Given the description of an element on the screen output the (x, y) to click on. 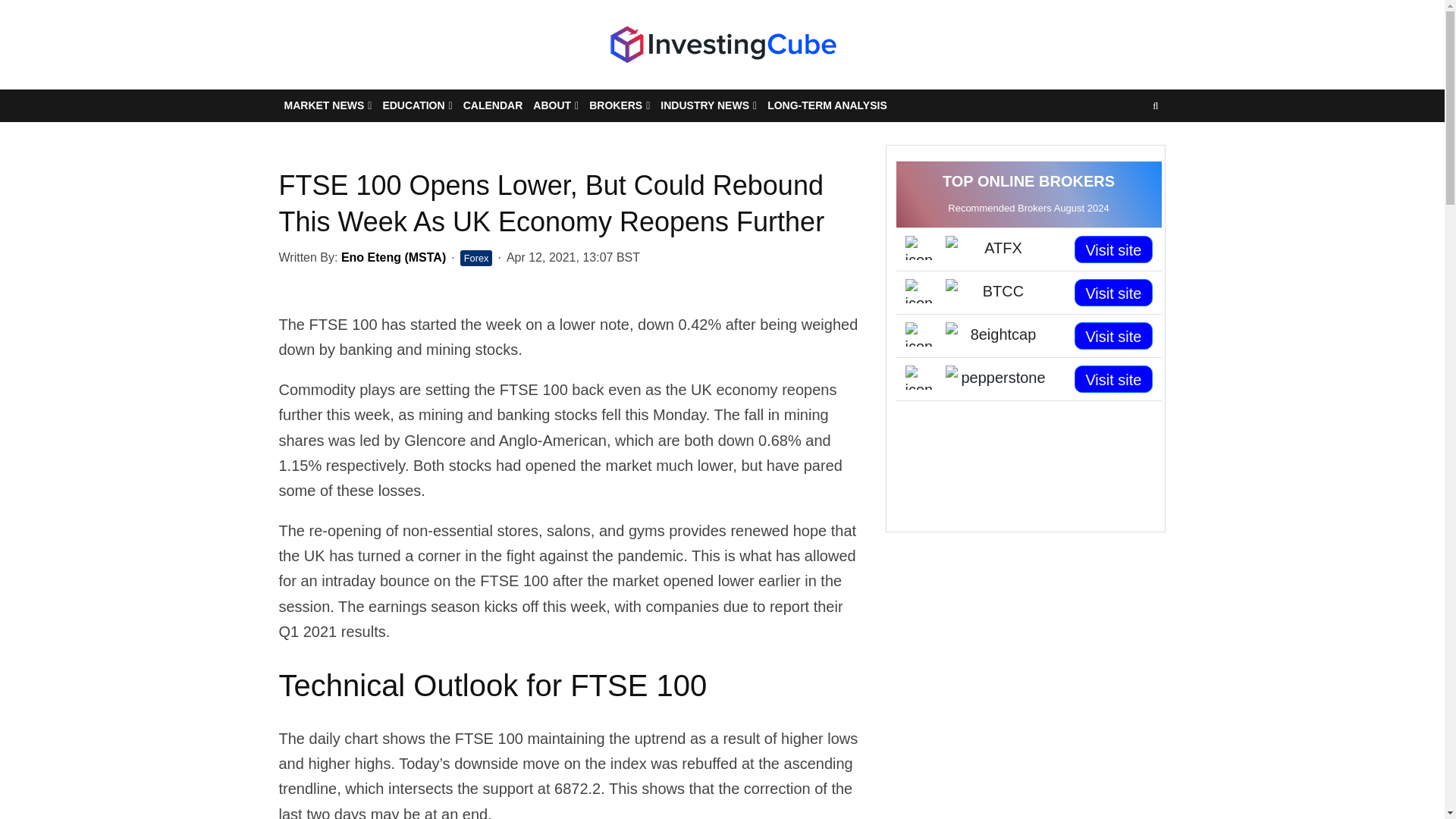
BROKERS (619, 105)
EDUCATION (417, 105)
CALENDAR (493, 105)
LONG-TERM ANALYSIS (826, 105)
INDUSTRY NEWS (708, 105)
MARKET NEWS (328, 105)
ABOUT (555, 105)
